Given the description of an element on the screen output the (x, y) to click on. 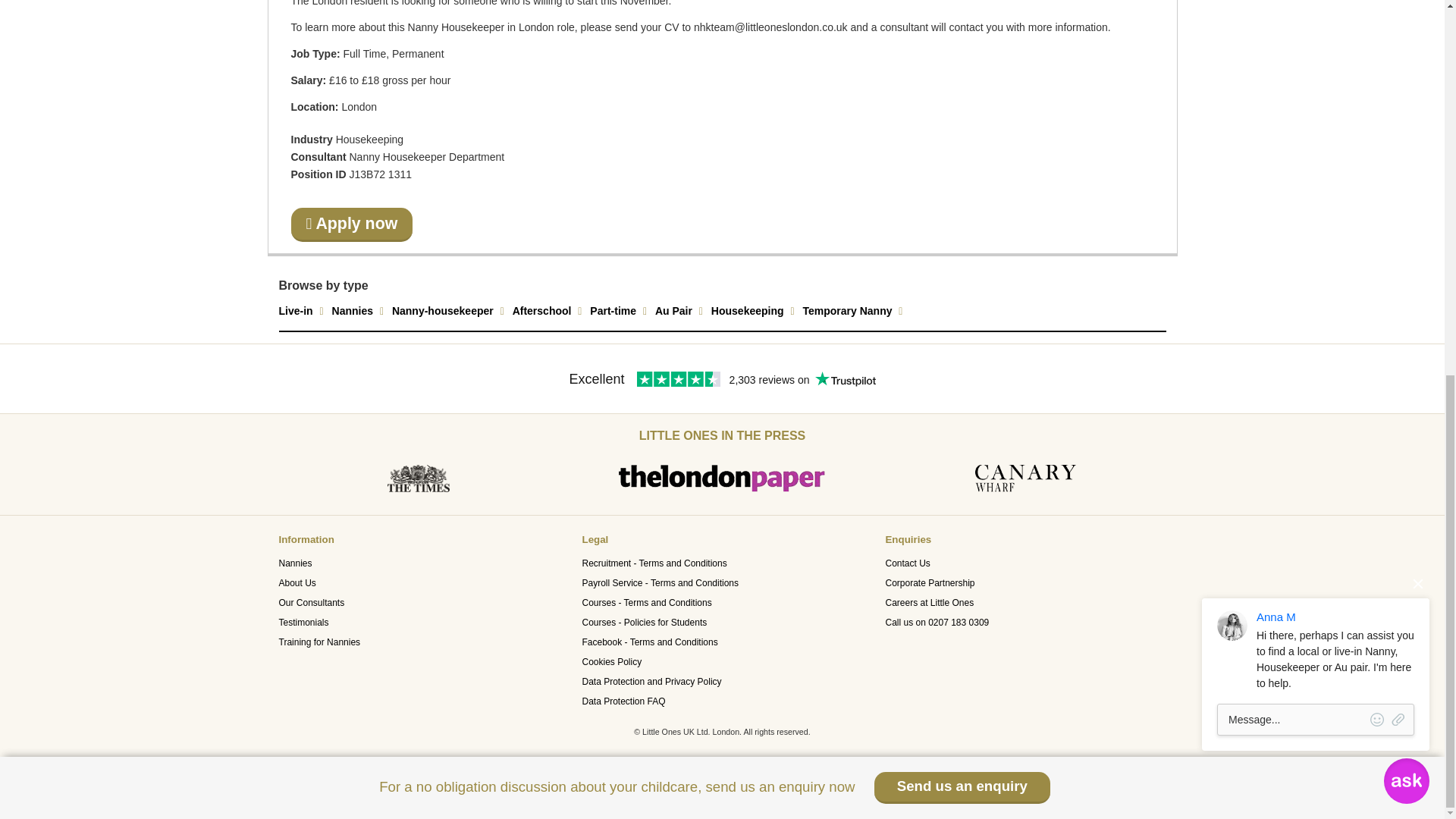
Customer reviews powered by Trustpilot (722, 389)
